Given the description of an element on the screen output the (x, y) to click on. 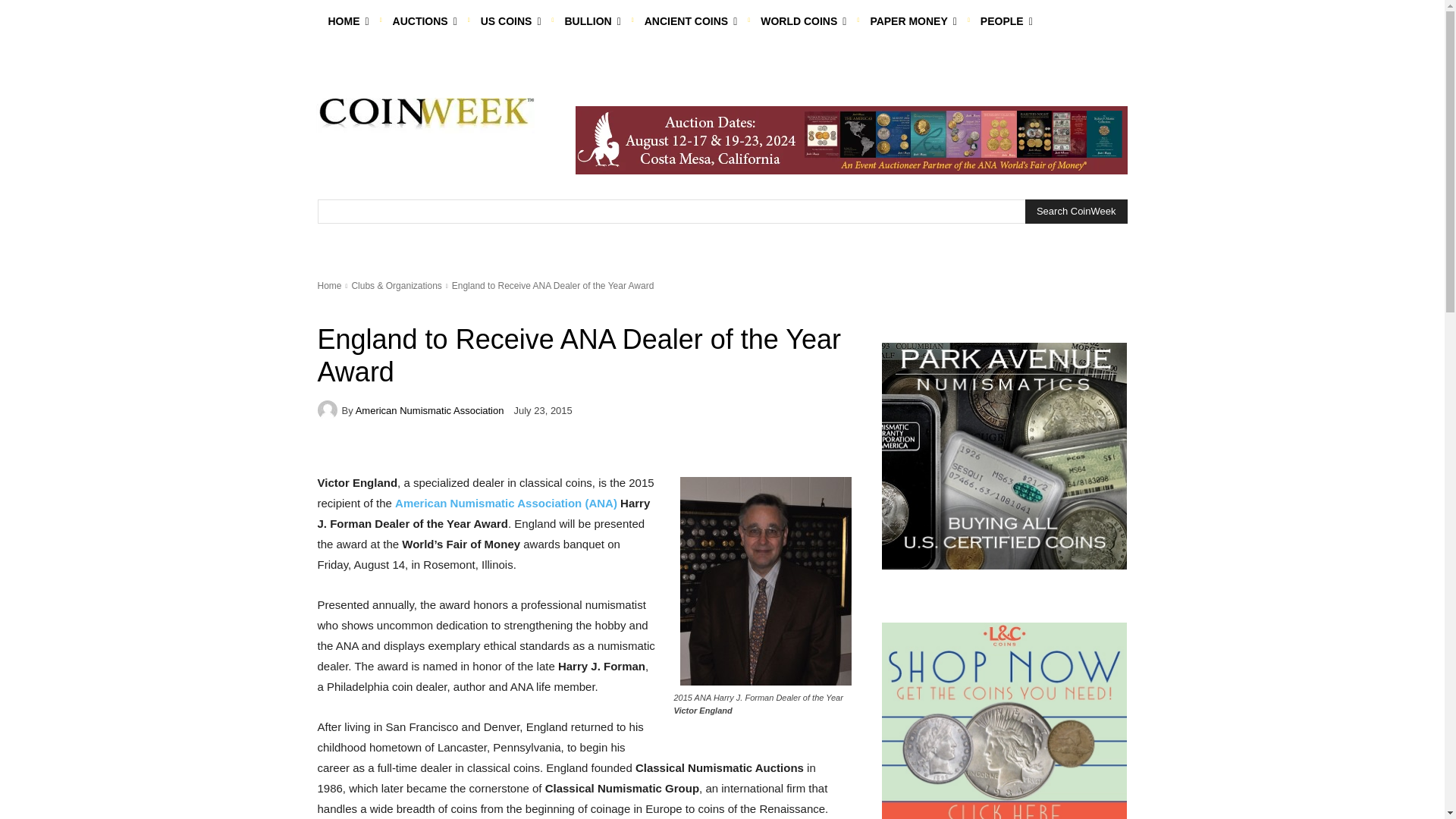
HOME (347, 21)
AUCTIONS (424, 21)
American Numismatic Association (328, 410)
